Given the description of an element on the screen output the (x, y) to click on. 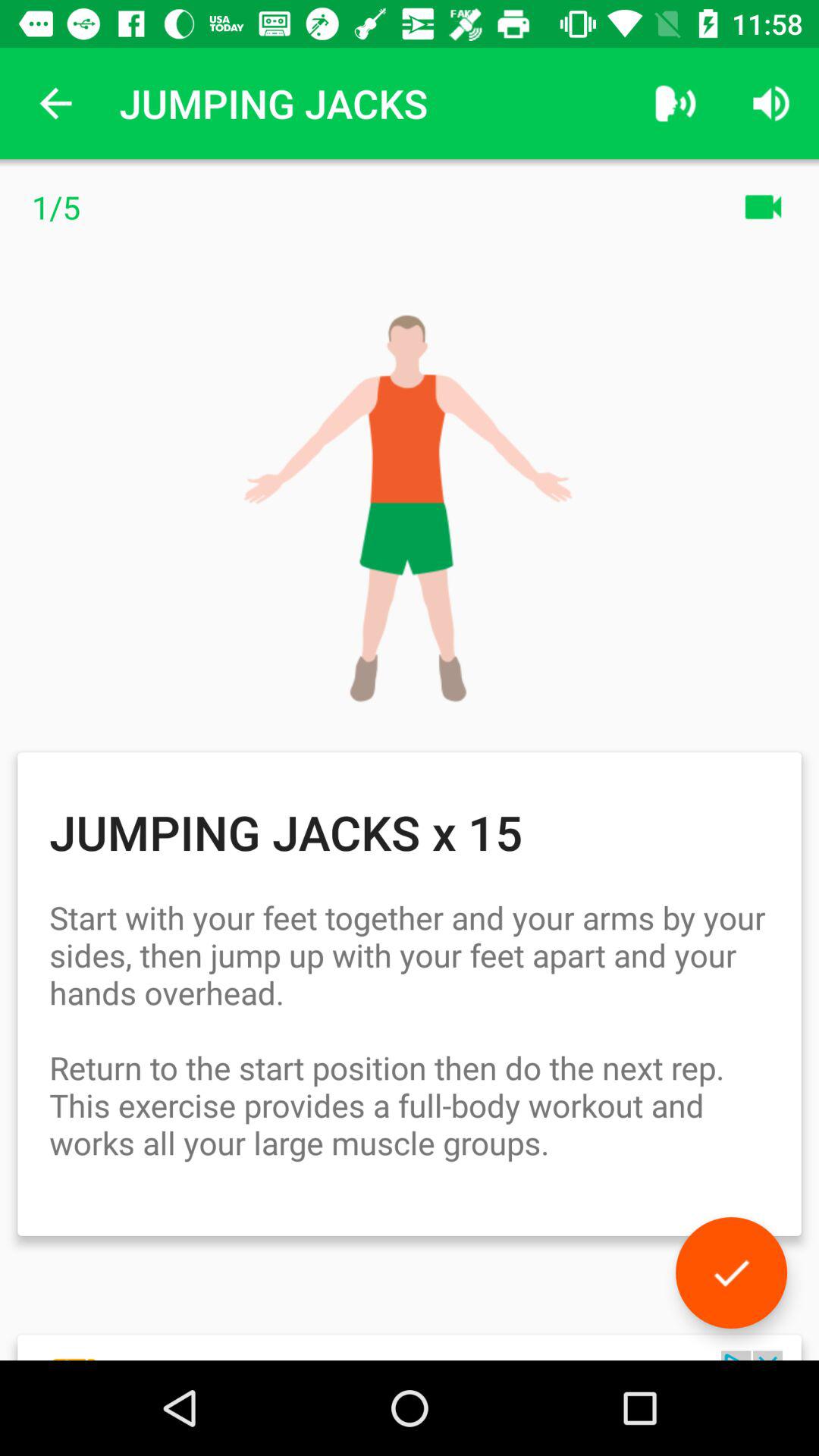
tap the icon at the top left corner (55, 103)
